Given the description of an element on the screen output the (x, y) to click on. 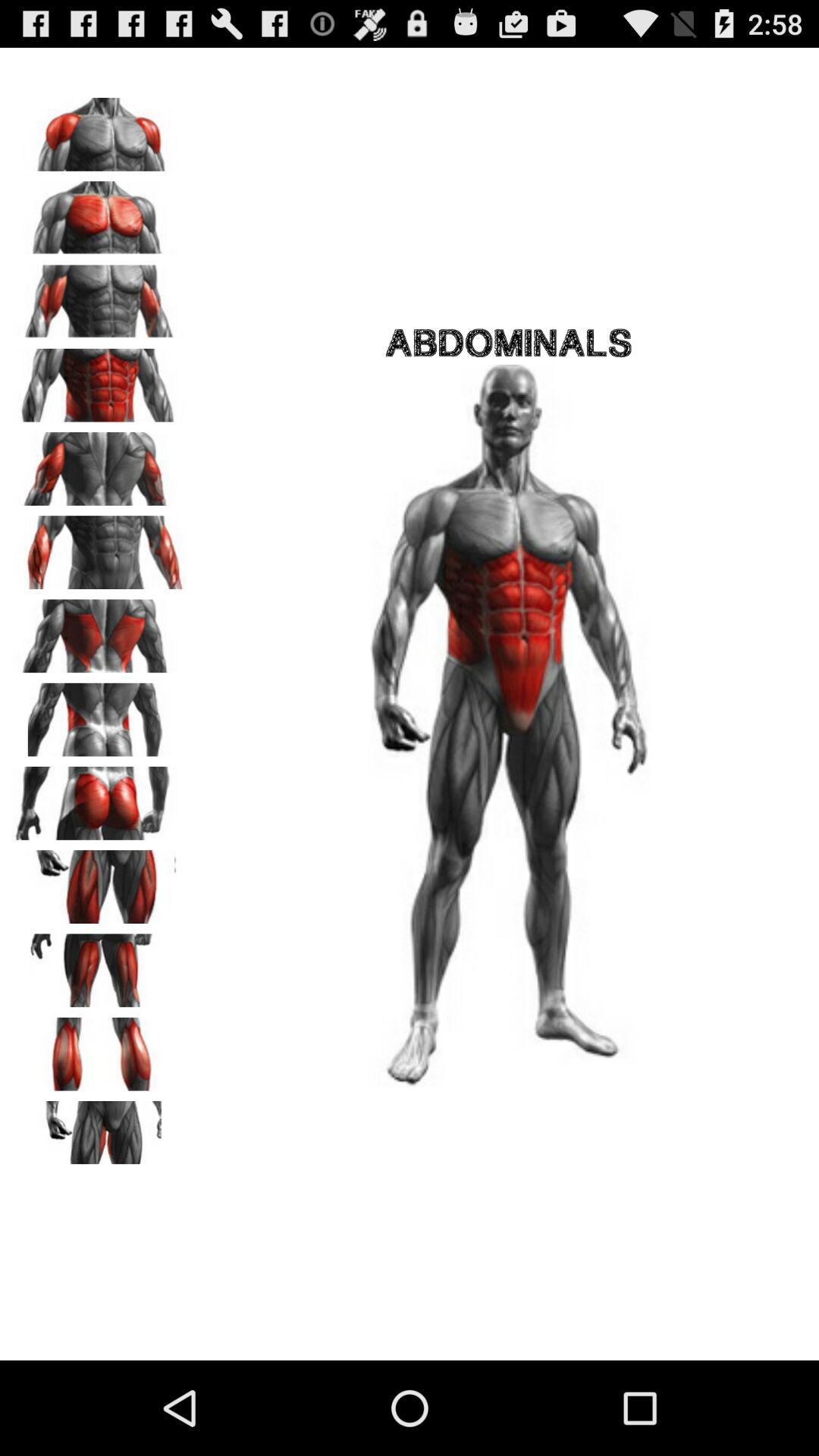
target muscle (99, 296)
